Given the description of an element on the screen output the (x, y) to click on. 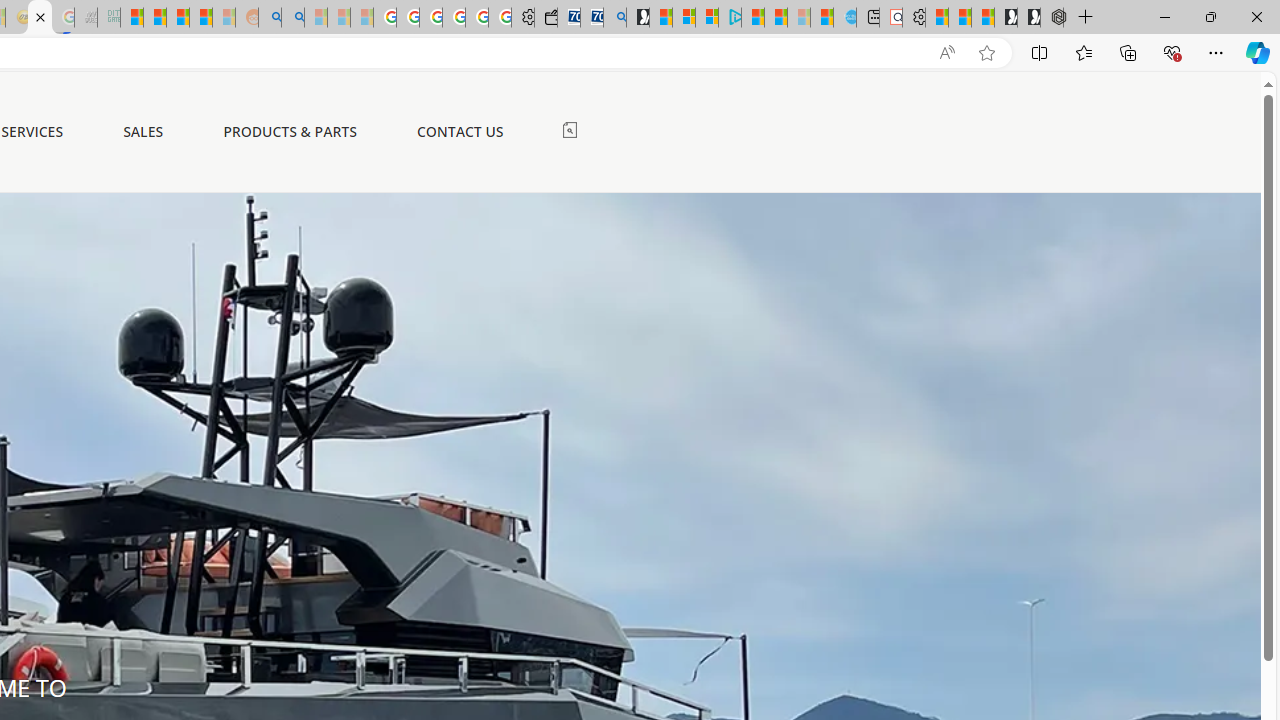
PRODUCTS & PARTS (289, 131)
Cheap Car Rentals - Save70.com (591, 17)
CONTACT US (459, 132)
